Given the description of an element on the screen output the (x, y) to click on. 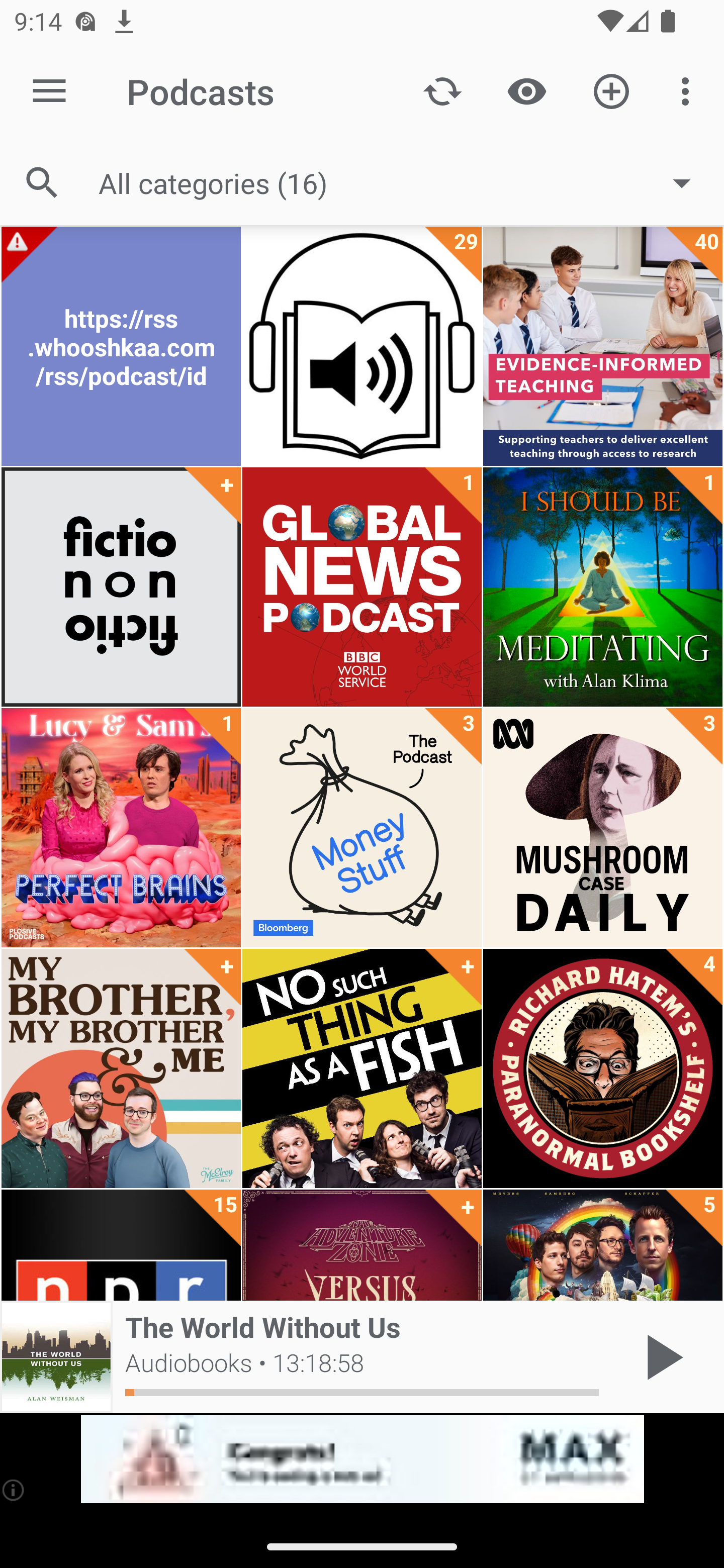
Open navigation sidebar (49, 91)
Update (442, 90)
Show / Hide played content (526, 90)
Add new Podcast (611, 90)
More options (688, 90)
Search (42, 183)
All categories (16) (404, 182)
https://rss.whooshkaa.com/rss/podcast/id/5884 (121, 346)
Audiobooks 29 (361, 346)
fiction/non/fiction + (121, 587)
Global News Podcast 1 (361, 587)
Lucy & Sam's Perfect Brains 1 (121, 827)
Money Stuff: The Podcast 3 (361, 827)
Mushroom Case Daily 3 (602, 827)
My Brother, My Brother And Me + (121, 1068)
No Such Thing As A Fish + (361, 1068)
Richard Hatem's Paranormal Bookshelf 4 (602, 1068)
Play / Pause (660, 1356)
app-monetization (362, 1459)
(i) (14, 1489)
